Given the description of an element on the screen output the (x, y) to click on. 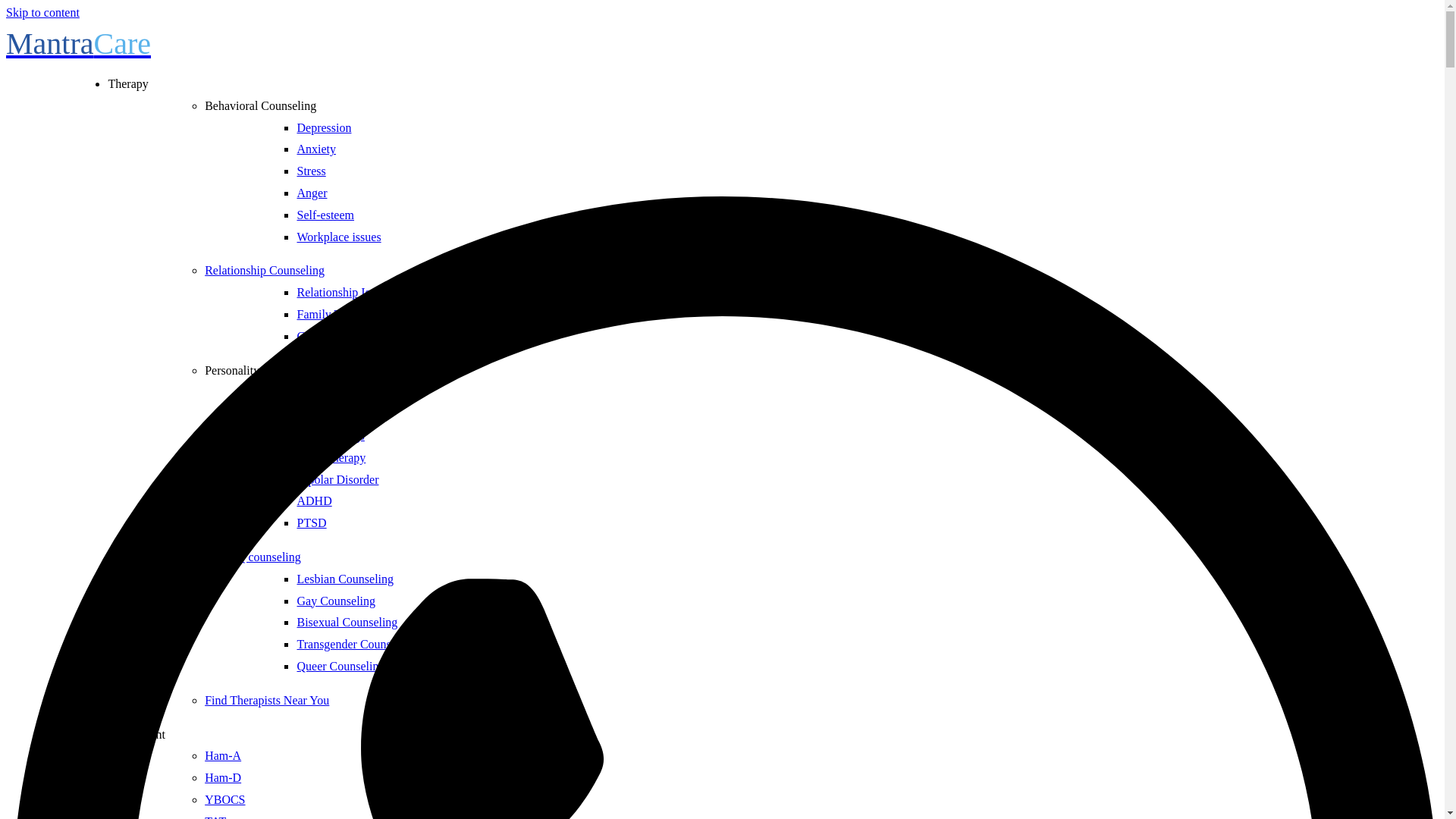
ADHD (314, 500)
Grief Counseling (338, 336)
Relationship Issues (343, 291)
Queer Counseling (340, 666)
Mood Swings (330, 435)
Insomnia (319, 391)
LGBTQ counseling (253, 556)
PTSD (311, 522)
Ham-A (223, 755)
Anxiety (316, 148)
